Given the description of an element on the screen output the (x, y) to click on. 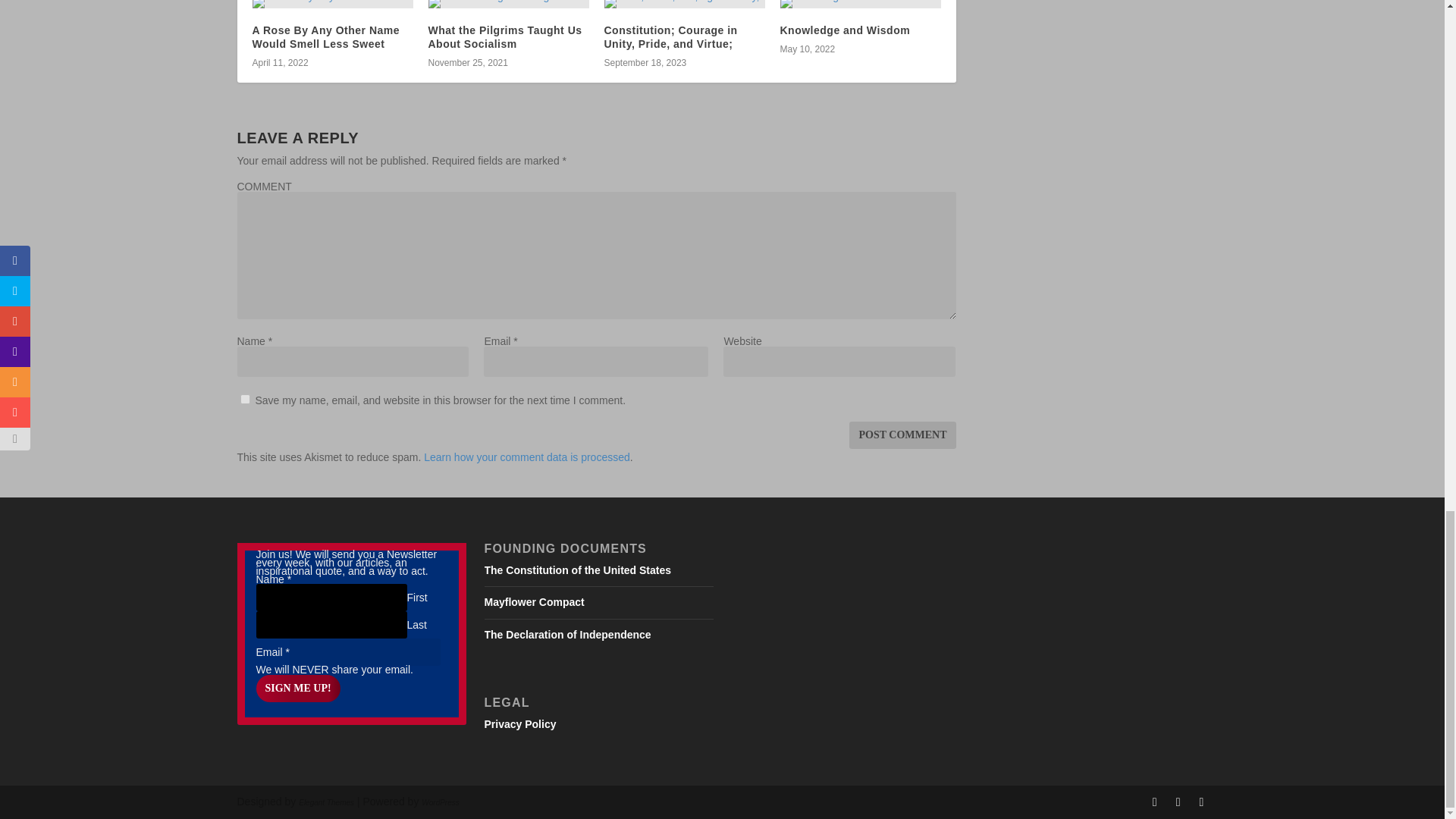
Knowledge and Wisdom (844, 30)
Post Comment (901, 434)
Constitution; Courage in Unity, Pride, and Virtue; (670, 36)
yes (244, 398)
A Rose By Any Other Name Would Smell Less Sweet (324, 36)
What the Pilgrims Taught Us About Socialism (504, 36)
